Given the description of an element on the screen output the (x, y) to click on. 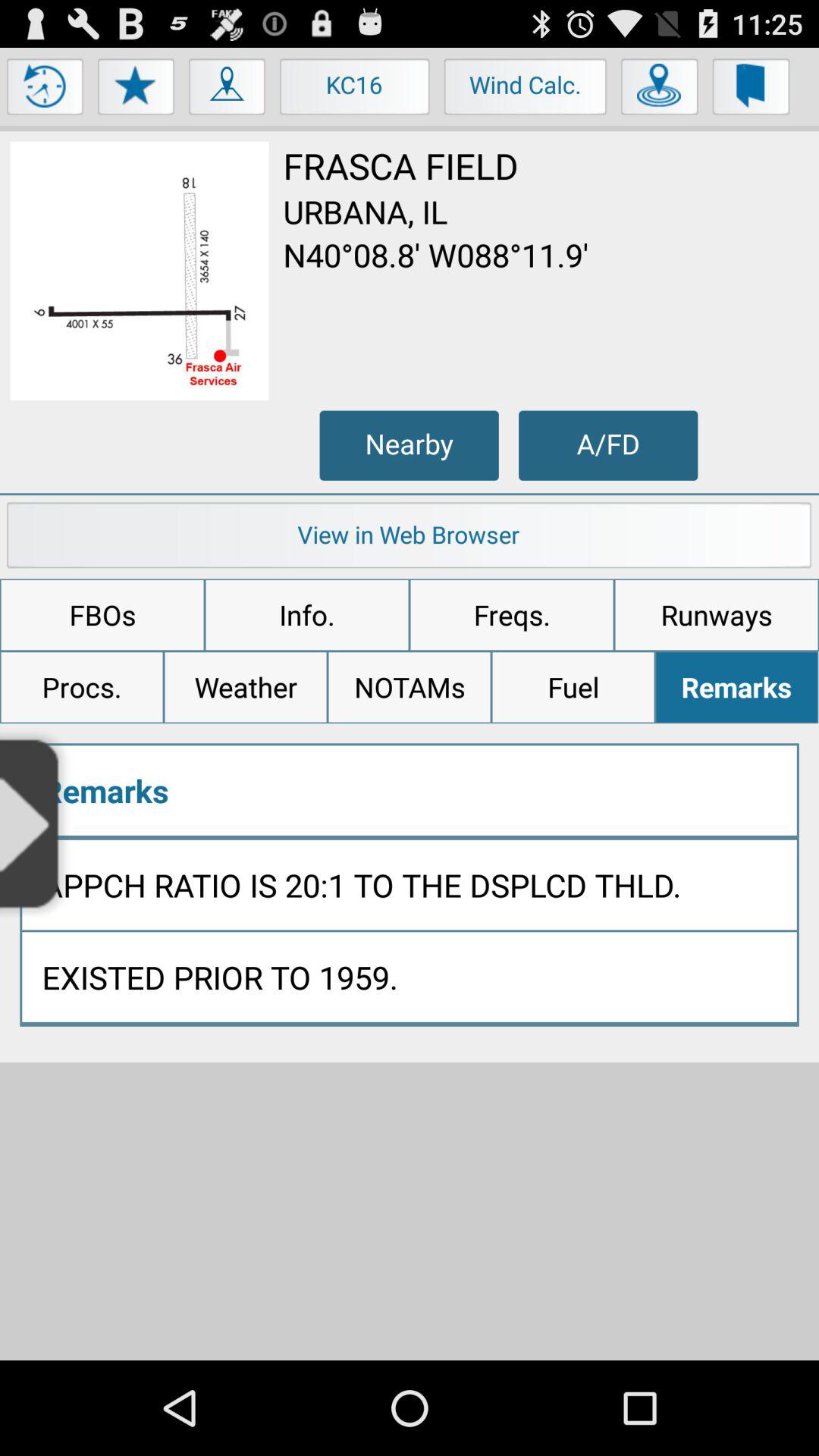
change time (45, 90)
